Given the description of an element on the screen output the (x, y) to click on. 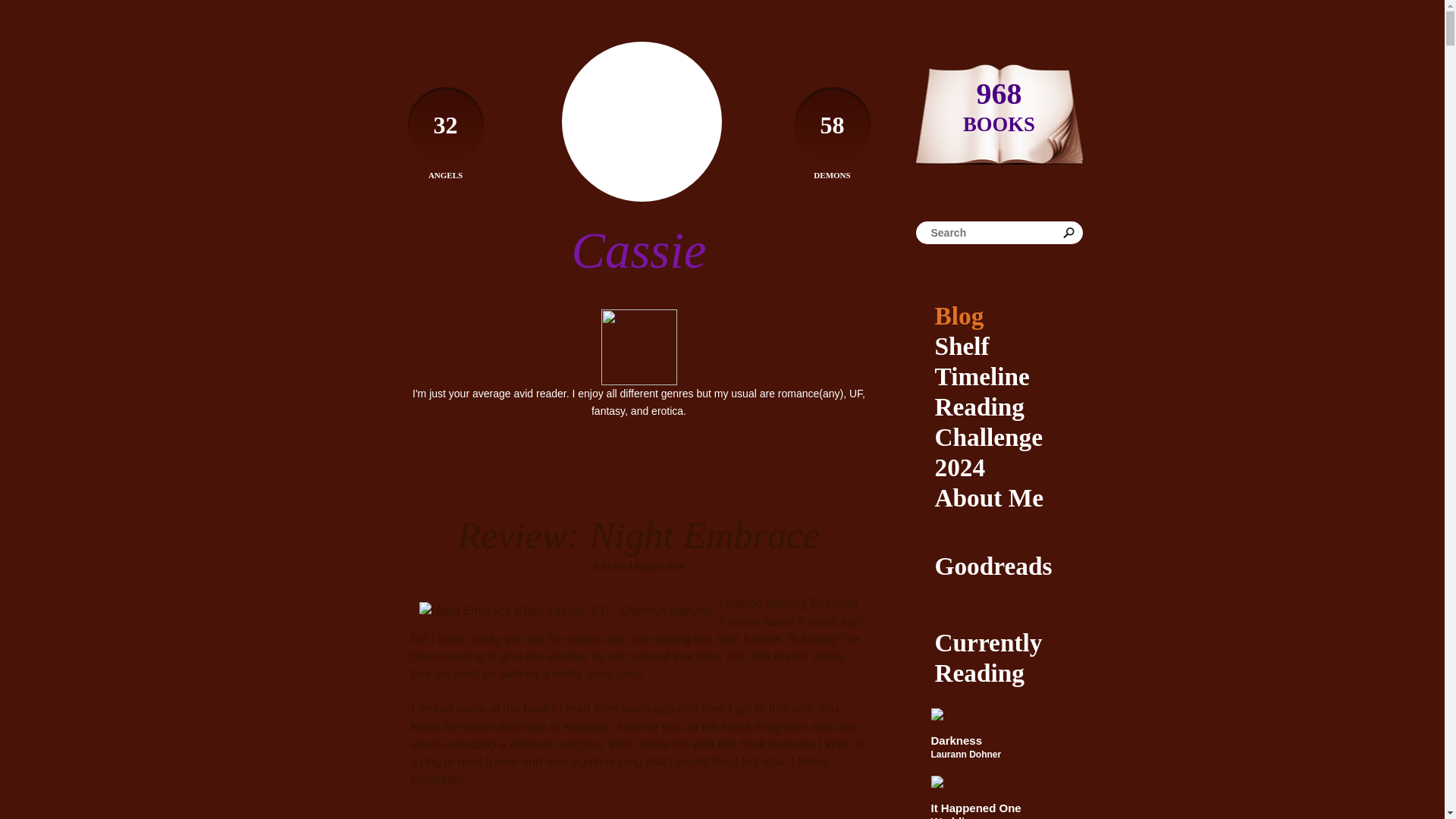
Review: Night Embrace (639, 535)
Cassie (639, 250)
3:37 pm 3 August 2014 (639, 565)
